Given the description of an element on the screen output the (x, y) to click on. 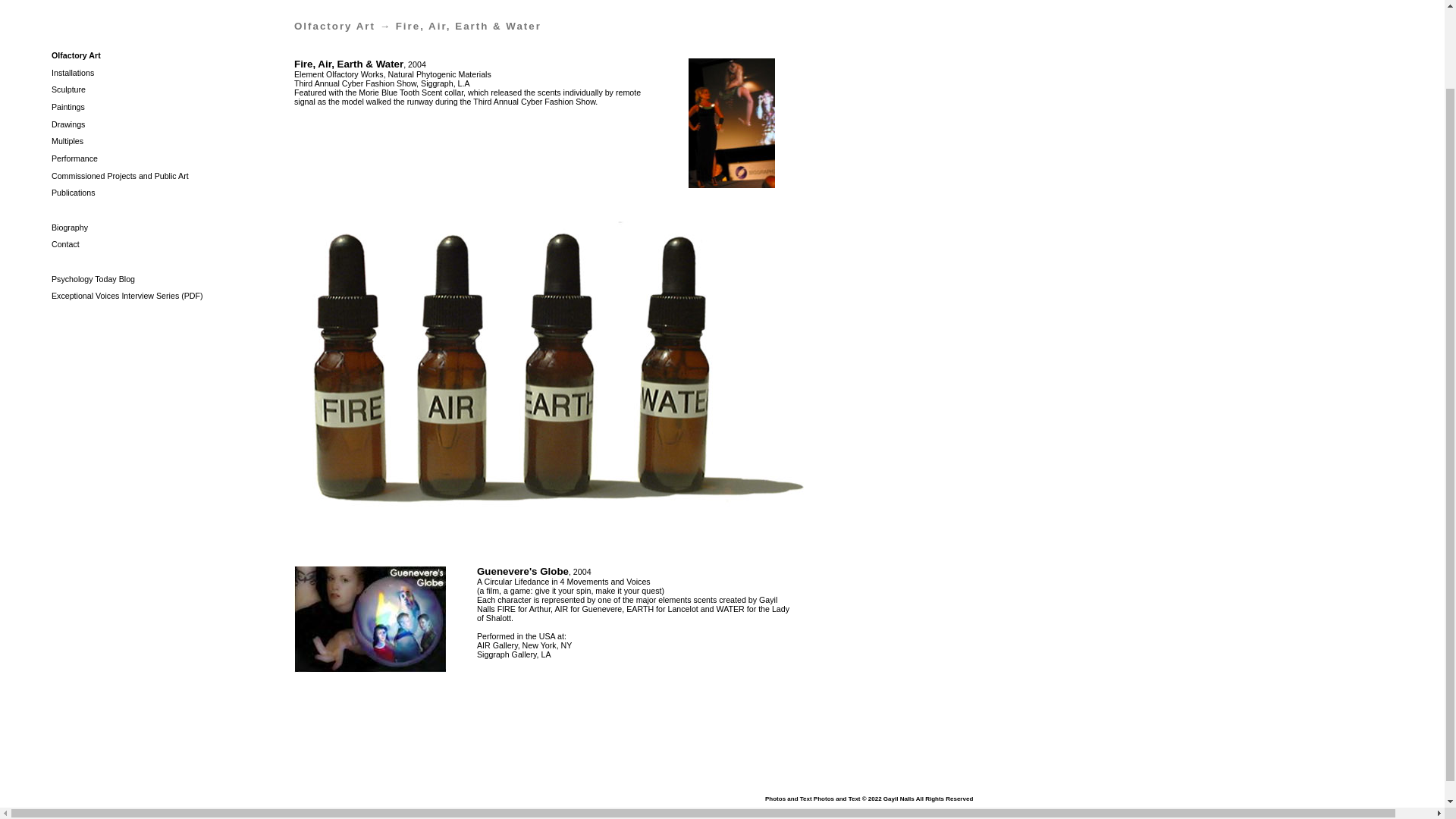
Olfactory Art (75, 54)
Installations (72, 71)
Olfactory Art (334, 25)
Psychology Today Blog (92, 278)
Publications (72, 192)
Commissioned Projects and Public Art (119, 175)
Performance (73, 157)
Sculpture (67, 89)
Drawings (67, 123)
Biography (68, 226)
